Given the description of an element on the screen output the (x, y) to click on. 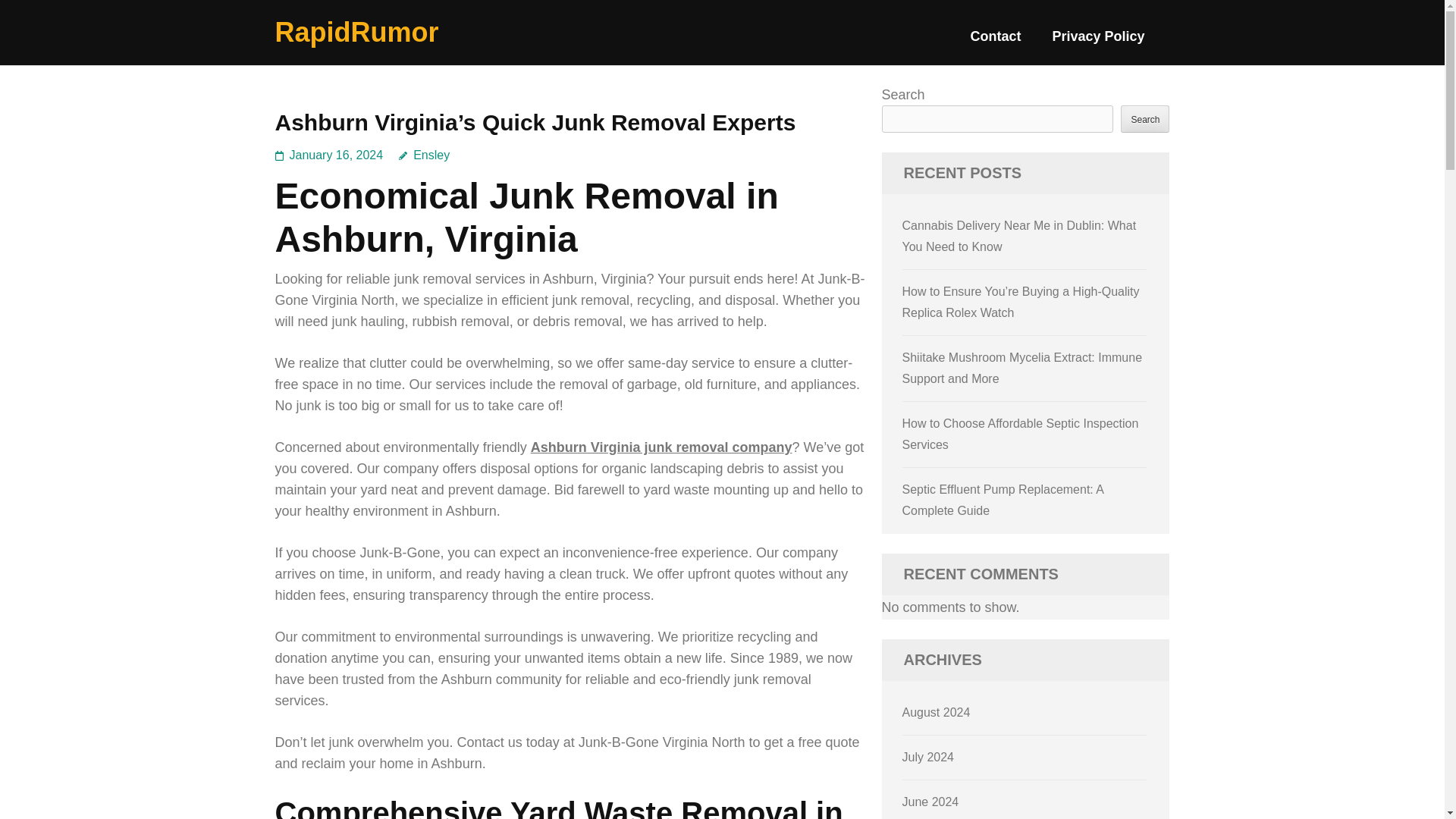
Privacy Policy (1097, 42)
June 2024 (930, 801)
Shiitake Mushroom Mycelia Extract: Immune Support and More (1022, 367)
Septic Effluent Pump Replacement: A Complete Guide (1002, 499)
Search (1145, 118)
January 16, 2024 (336, 154)
Cannabis Delivery Near Me in Dublin: What You Need to Know (1019, 236)
August 2024 (936, 712)
RapidRumor (356, 31)
Ashburn Virginia junk removal company (661, 447)
